Given the description of an element on the screen output the (x, y) to click on. 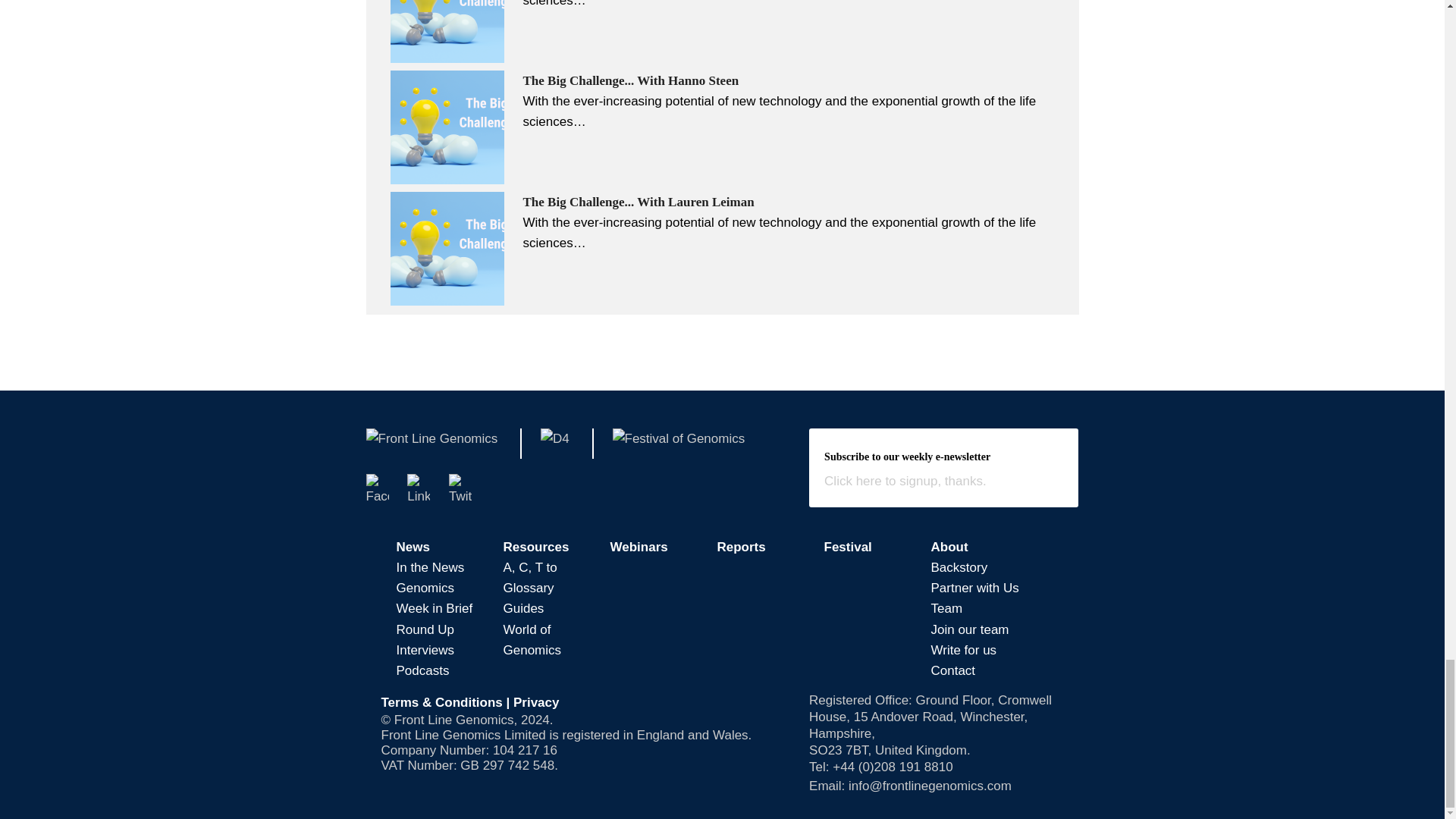
D4 (554, 443)
Festival of Genomics (678, 443)
Front Line Genomics (431, 443)
